Given the description of an element on the screen output the (x, y) to click on. 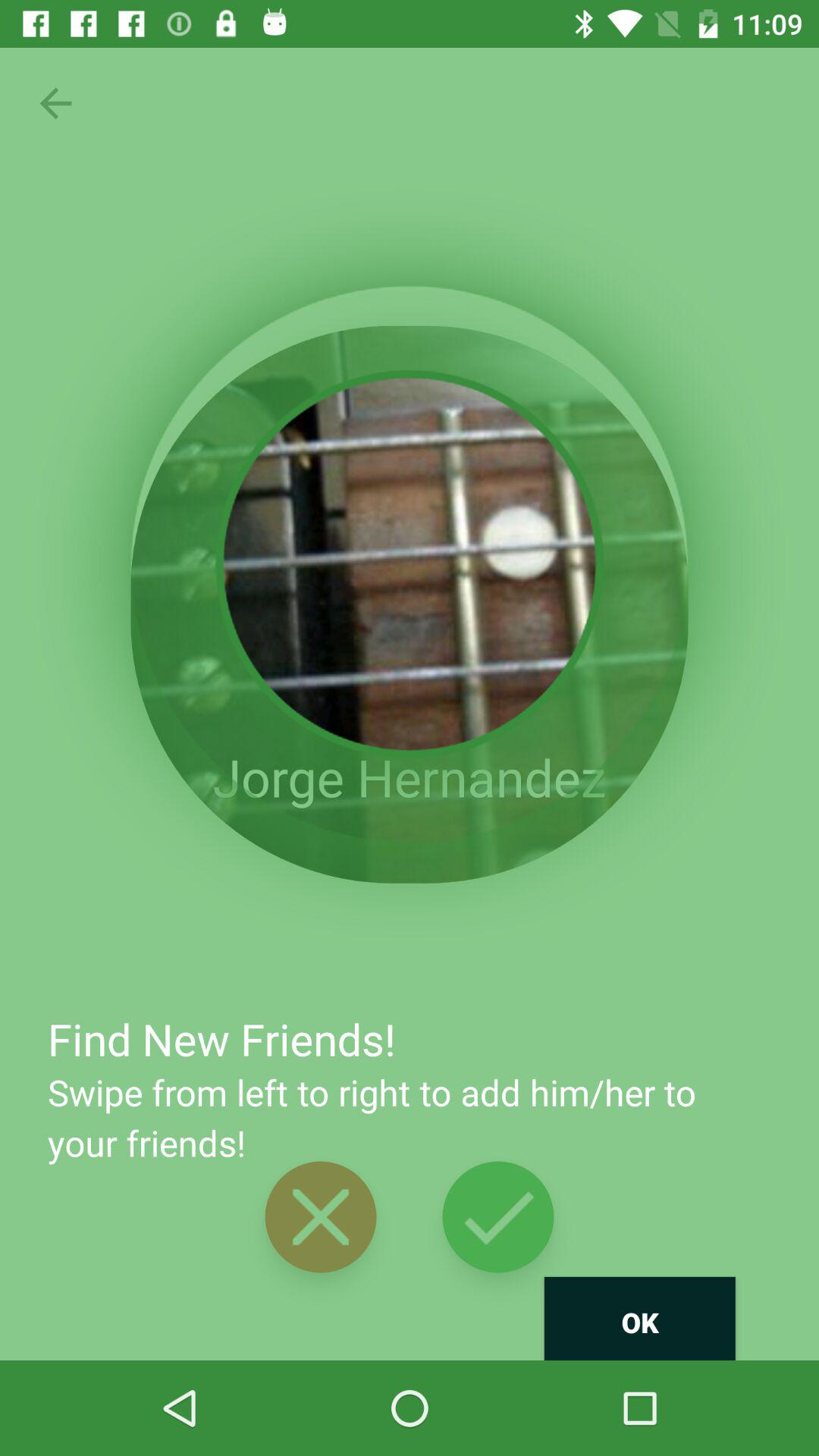
the button is used to closed delete option (320, 1216)
